Given the description of an element on the screen output the (x, y) to click on. 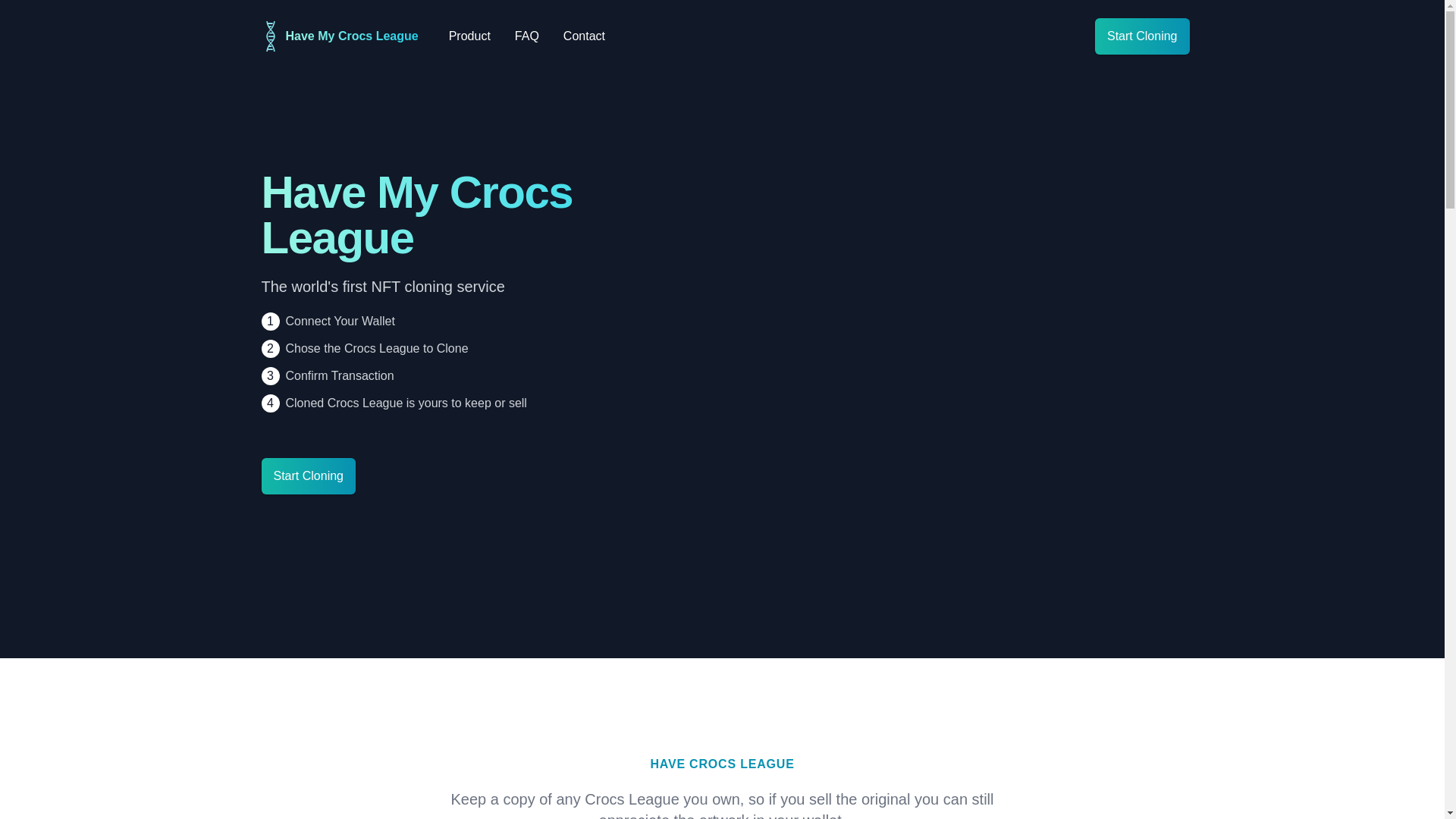
FAQ (526, 36)
Start Cloning (1141, 36)
Contact (335, 36)
Product (584, 36)
Start Cloning (469, 36)
